Given the description of an element on the screen output the (x, y) to click on. 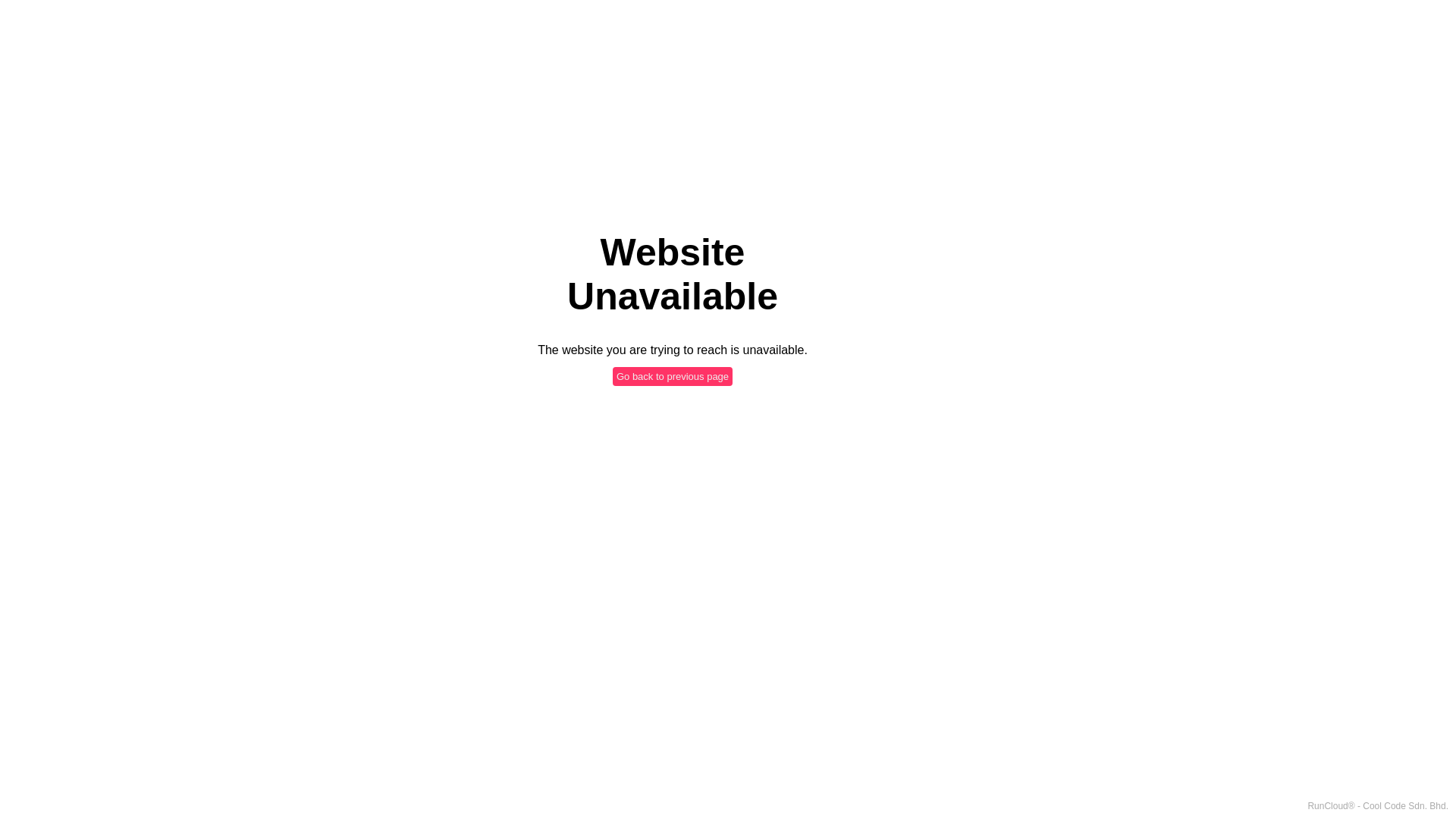
Go back to previous page Element type: text (672, 376)
